Given the description of an element on the screen output the (x, y) to click on. 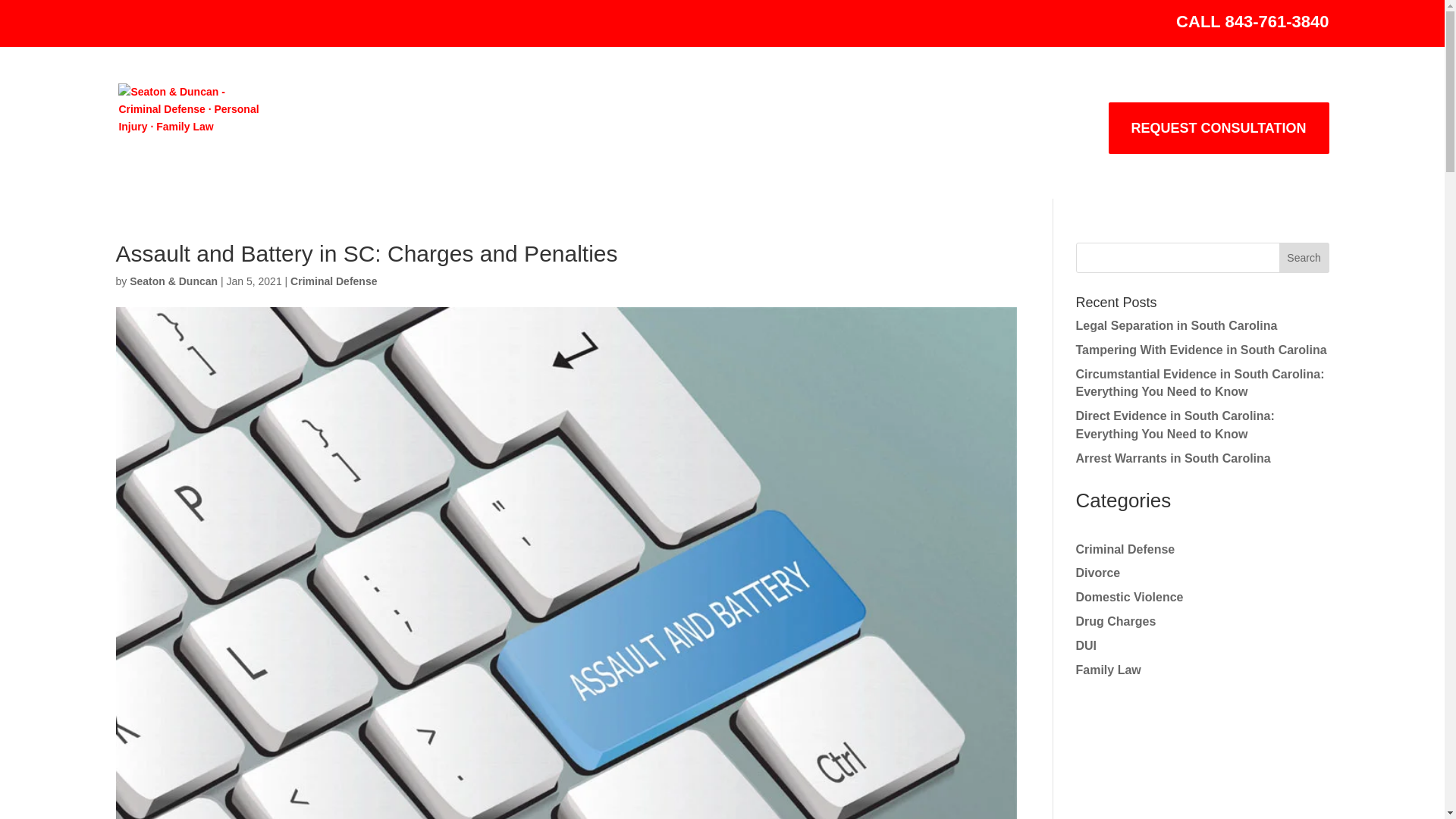
REQUEST CONSULTATION (1218, 127)
PERSONAL INJURY (668, 140)
Search (1304, 257)
HOME (367, 140)
Tampering With Evidence in South Carolina (1200, 349)
Arrest Warrants in South Carolina (1172, 458)
843-761-3840 (1275, 21)
FAMILY LAW (820, 140)
